Given the description of an element on the screen output the (x, y) to click on. 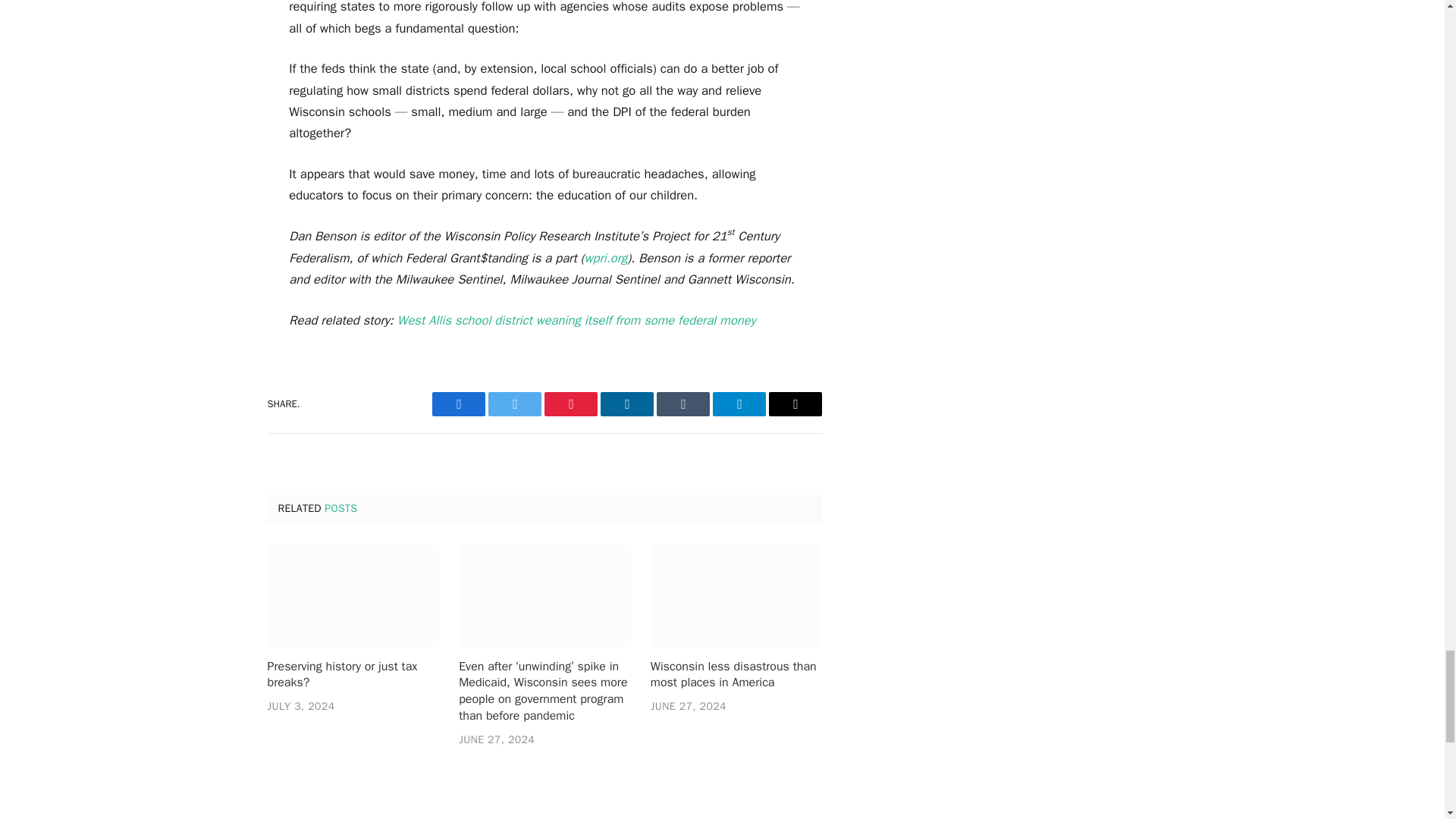
Share on Facebook (458, 404)
